Given the description of an element on the screen output the (x, y) to click on. 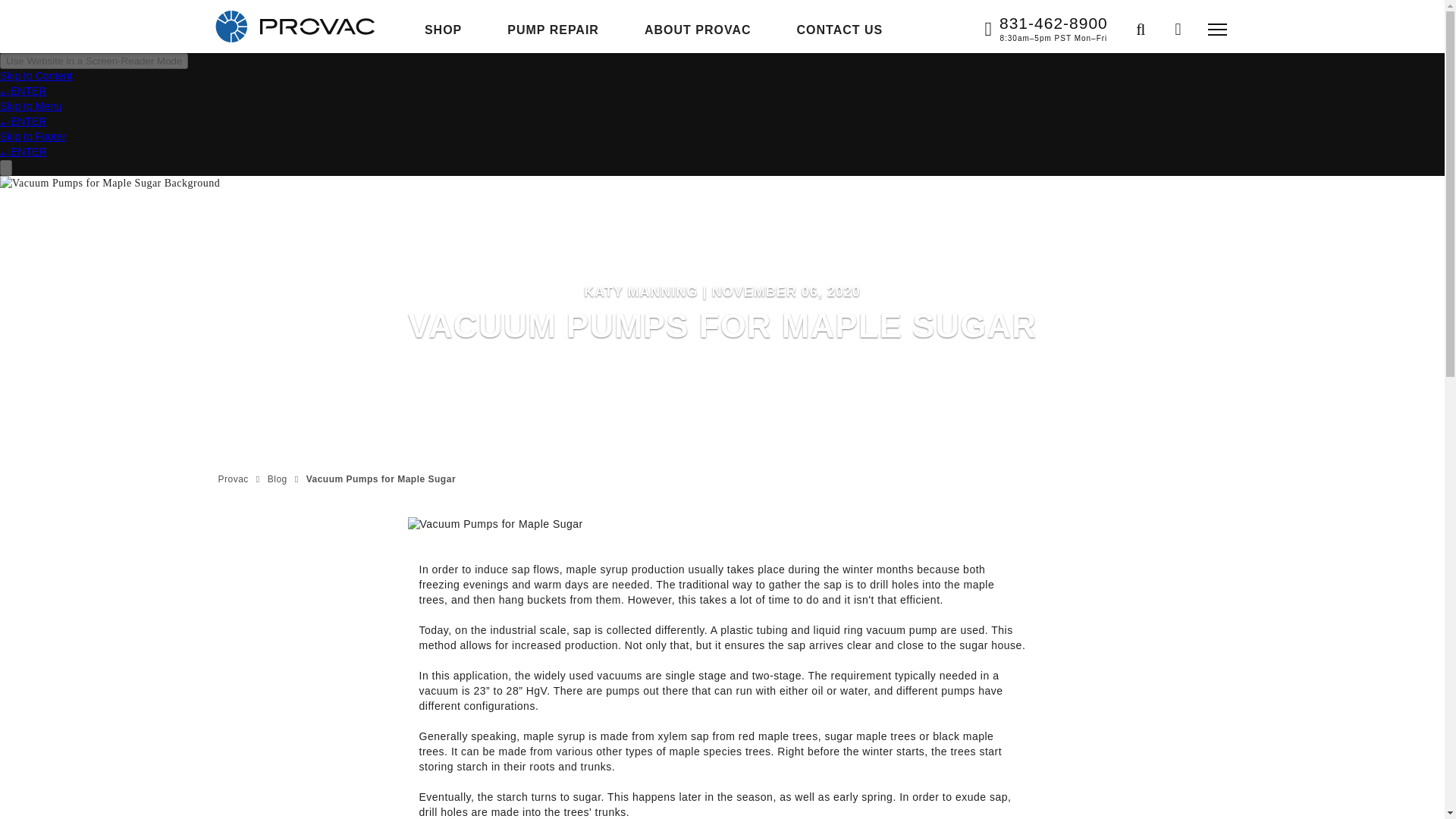
Provac Icon Created with Sketch. Provac Logo (296, 26)
SHOP (442, 30)
Provac Icon Created with Sketch. (230, 26)
Provac Logo (317, 27)
